Given the description of an element on the screen output the (x, y) to click on. 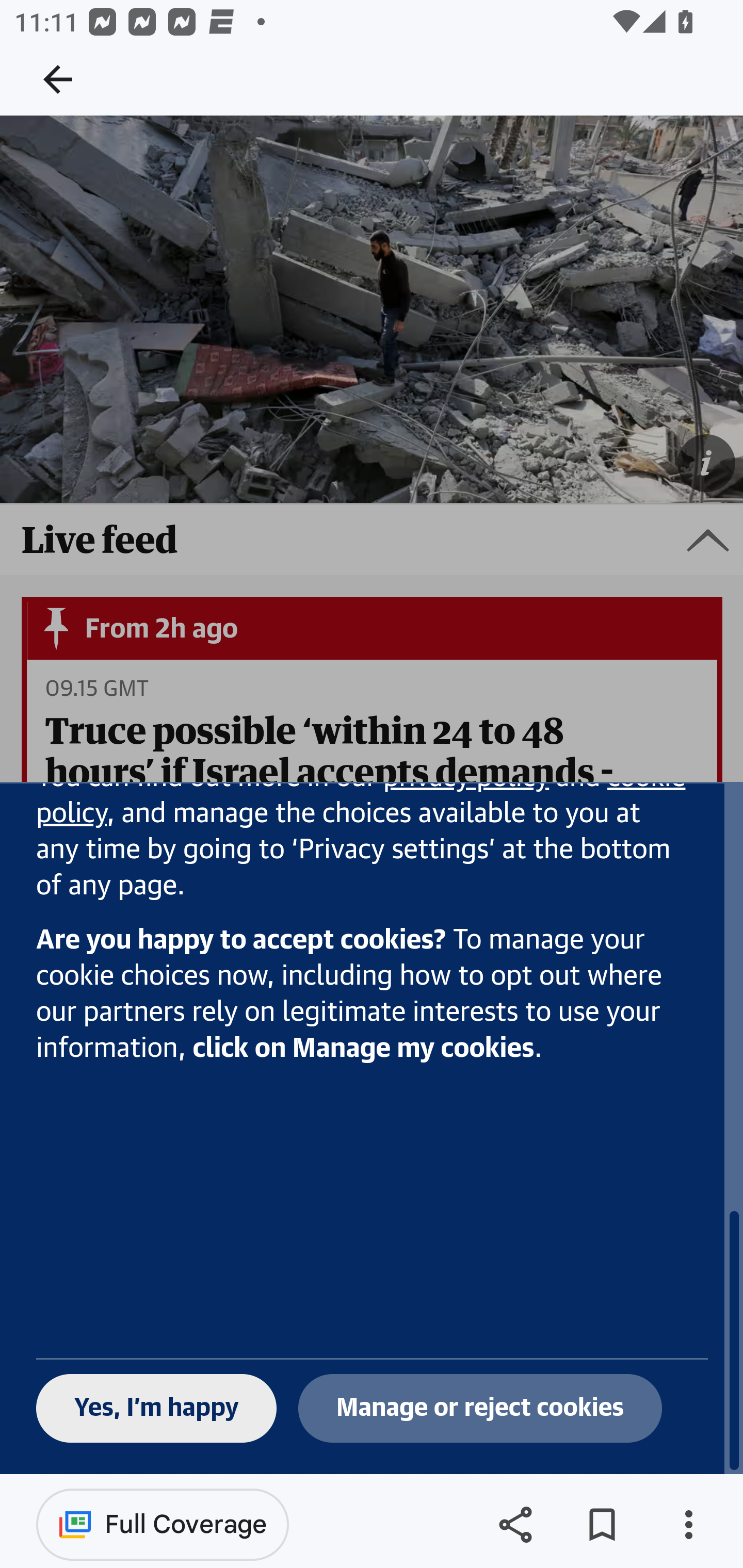
Navigate up (57, 79)
Yes, I’m happy (156, 1410)
Manage or reject cookies (479, 1410)
Share (514, 1524)
Save for later (601, 1524)
More options (688, 1524)
Full Coverage (162, 1524)
